Given the description of an element on the screen output the (x, y) to click on. 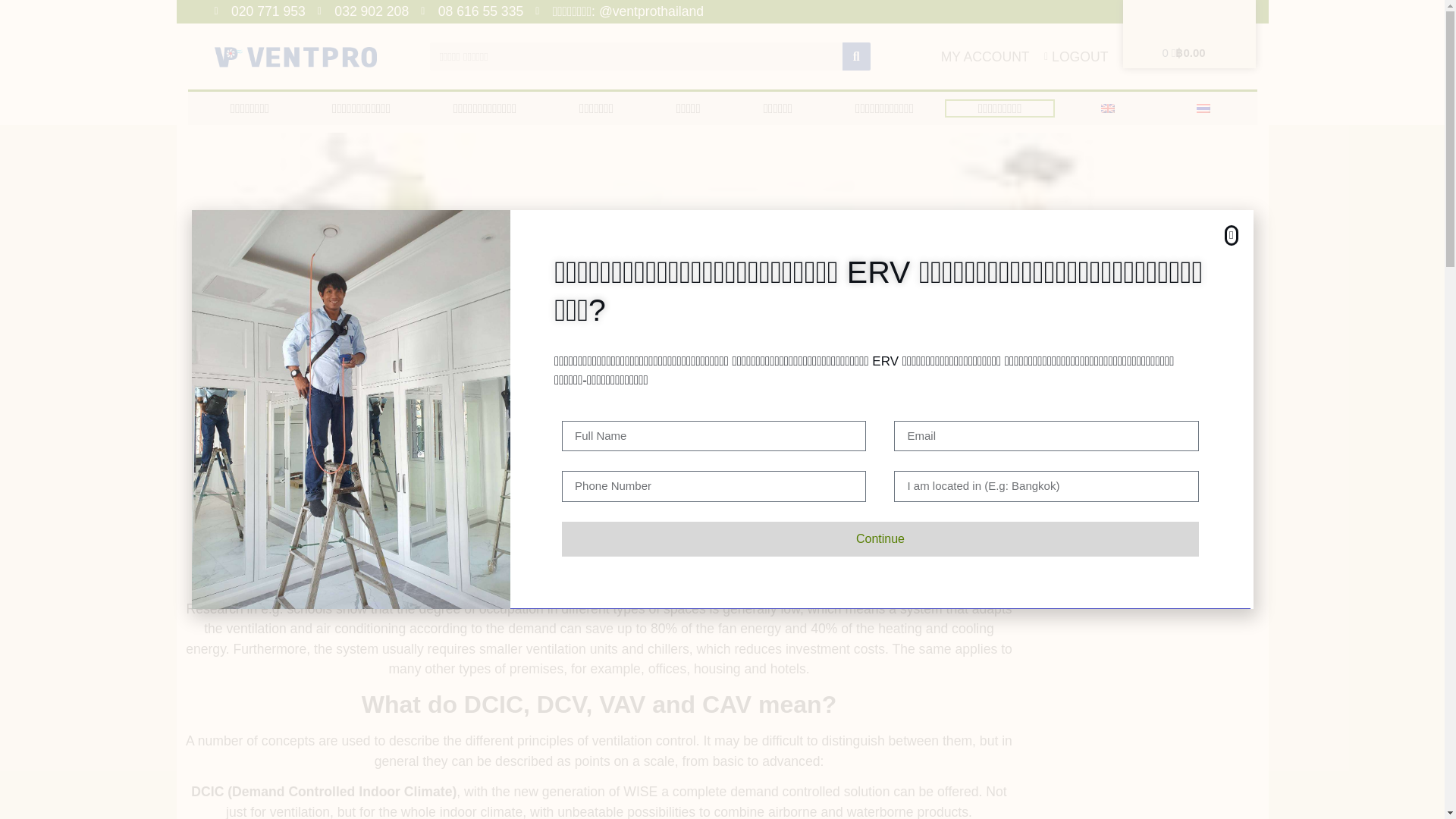
MY ACCOUNT (984, 56)
032 902 208 (363, 11)
020 771 953 (259, 11)
LOGOUT (1071, 56)
08 616 55 335 (471, 11)
